Given the description of an element on the screen output the (x, y) to click on. 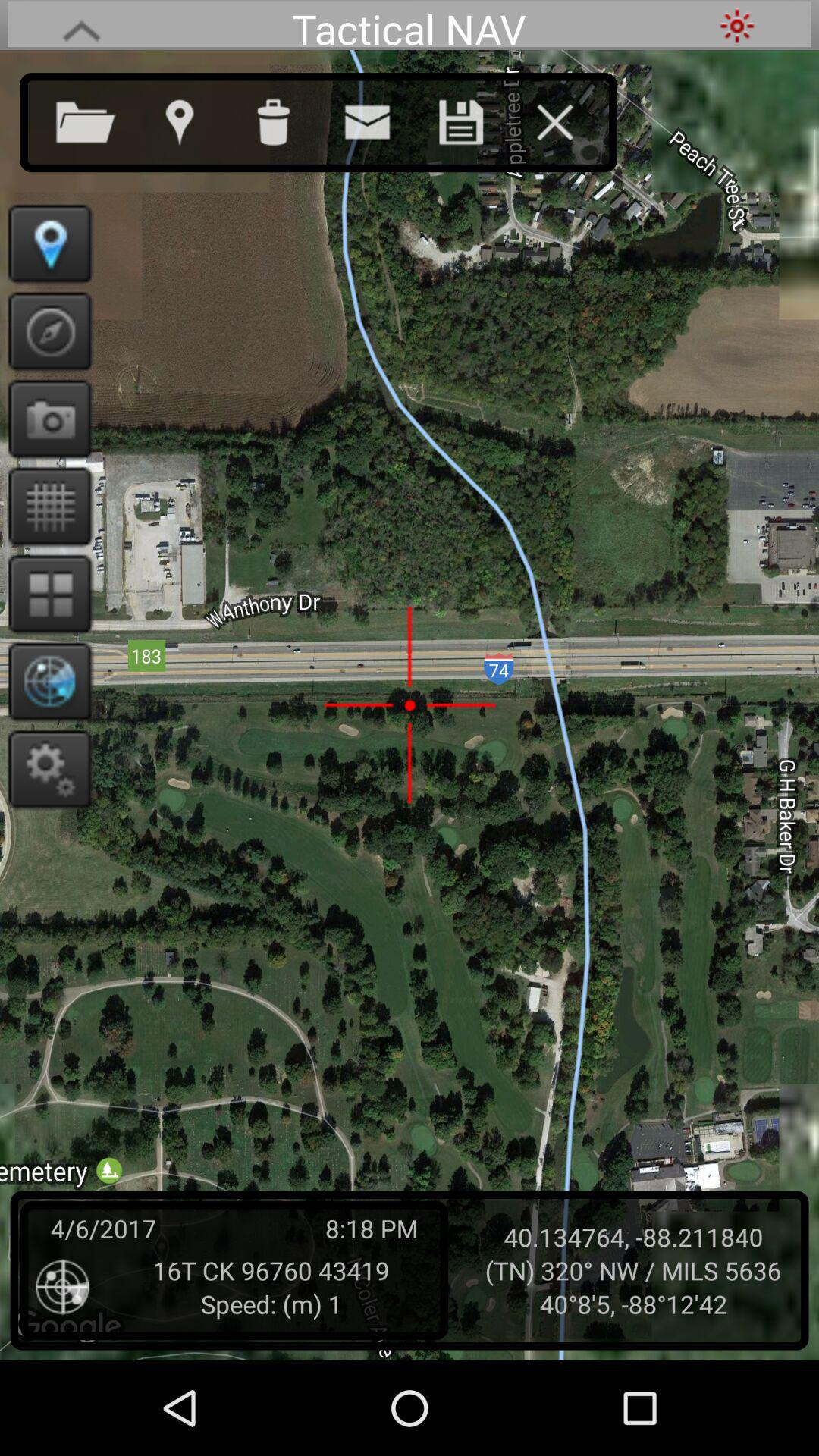
location (194, 119)
